Given the description of an element on the screen output the (x, y) to click on. 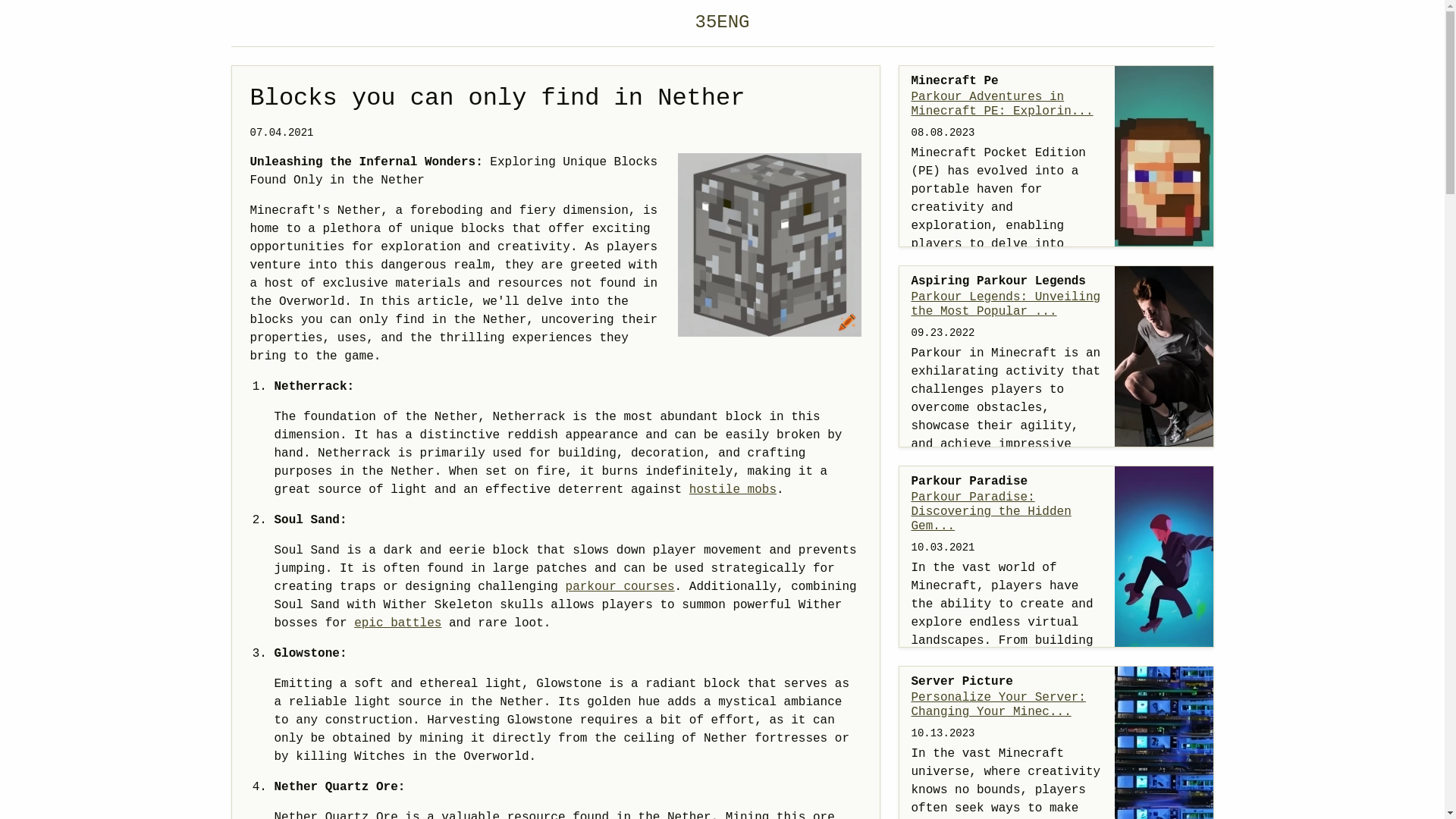
Parkour Adventures in Minecraft PE: Explorin... Element type: text (1006, 104)
parkour courses Element type: text (619, 586)
Parkour Paradise: Discovering the Hidden Gem... Element type: text (1006, 512)
epic battles Element type: text (397, 623)
35ENG Element type: text (721, 22)
hostile mobs Element type: text (732, 489)
Parkour Legends: Unveiling the Most Popular ... Element type: text (1006, 304)
Personalize Your Server: Changing Your Minec... Element type: text (1006, 704)
